Given the description of an element on the screen output the (x, y) to click on. 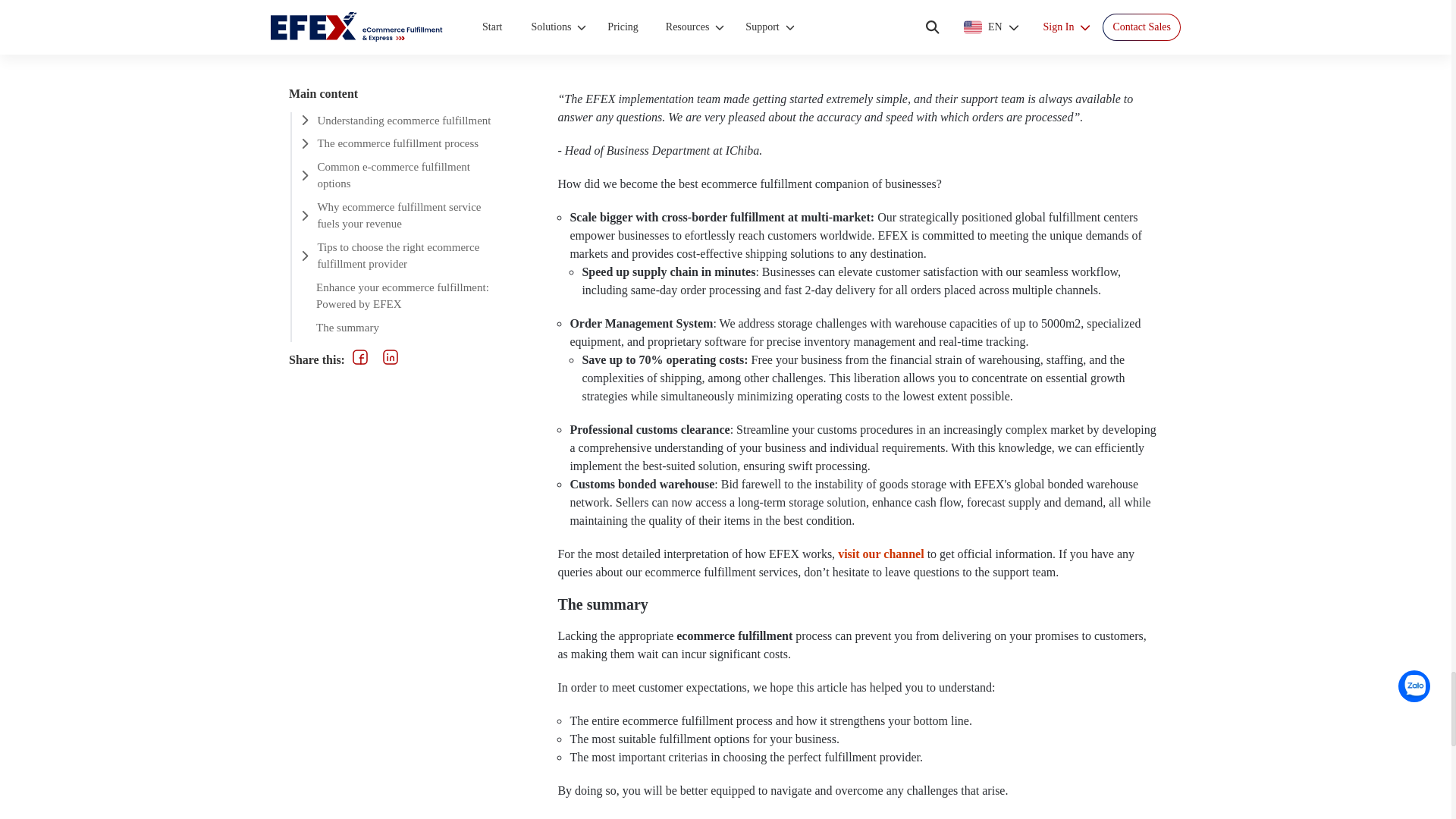
visit our channel (881, 553)
YouTube video player (857, 37)
